Given the description of an element on the screen output the (x, y) to click on. 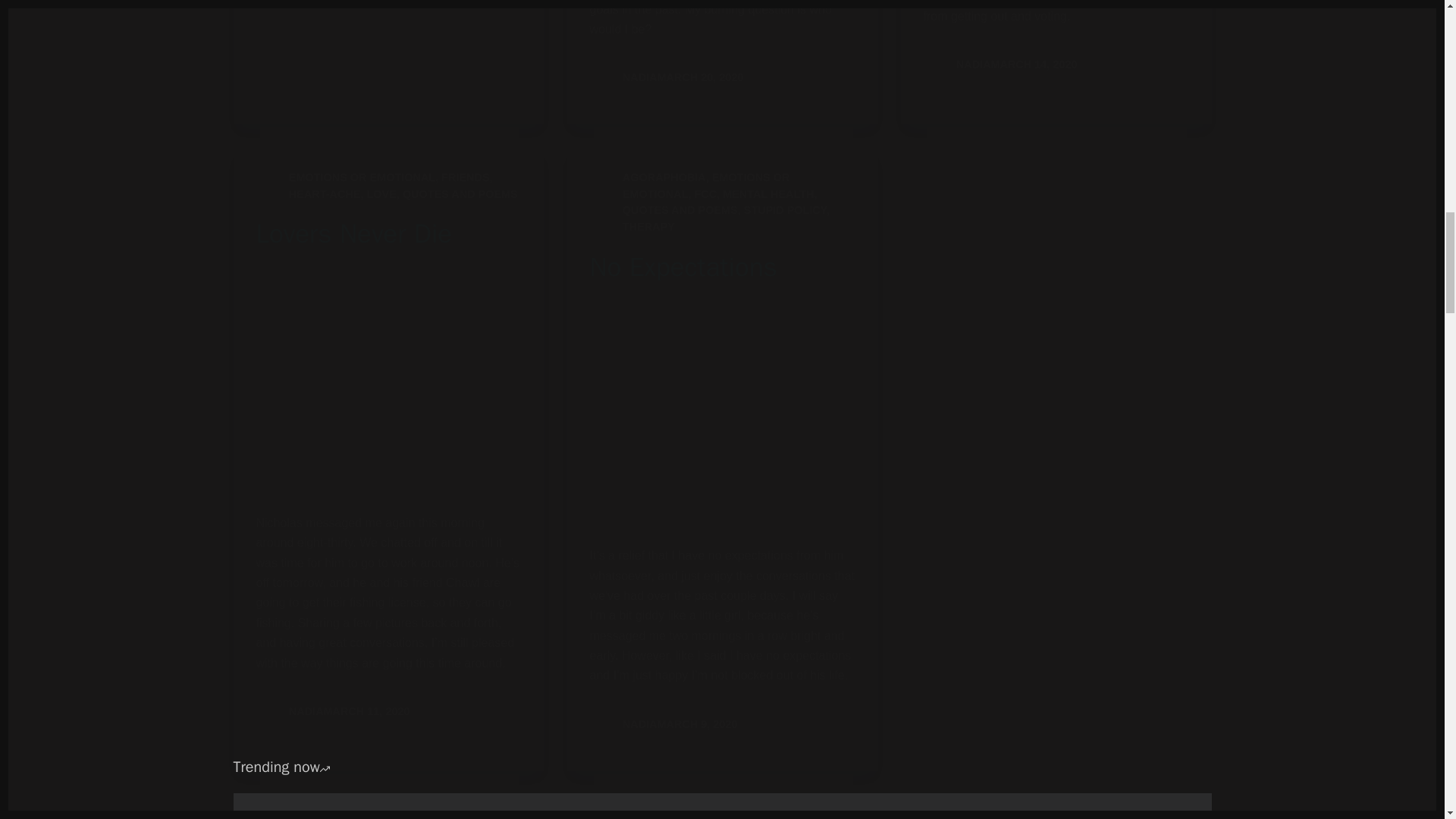
Posts by Nadia (640, 724)
Posts by Nadia (640, 77)
Posts by Nadia (973, 64)
Posts by Nadia (305, 711)
